Given the description of an element on the screen output the (x, y) to click on. 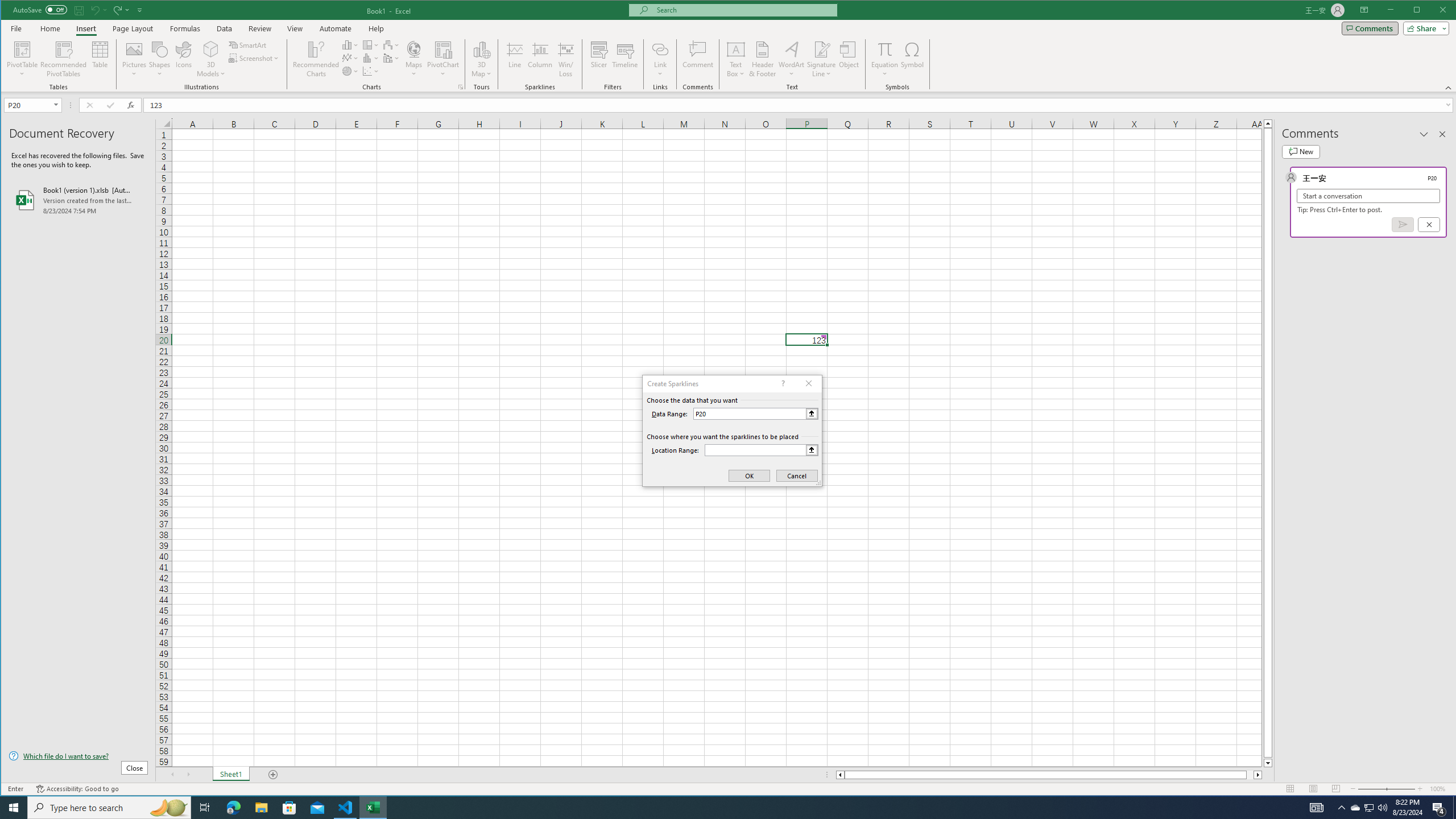
3D Models (211, 48)
3D Map (481, 48)
Table (100, 59)
Cancel (1428, 224)
